Given the description of an element on the screen output the (x, y) to click on. 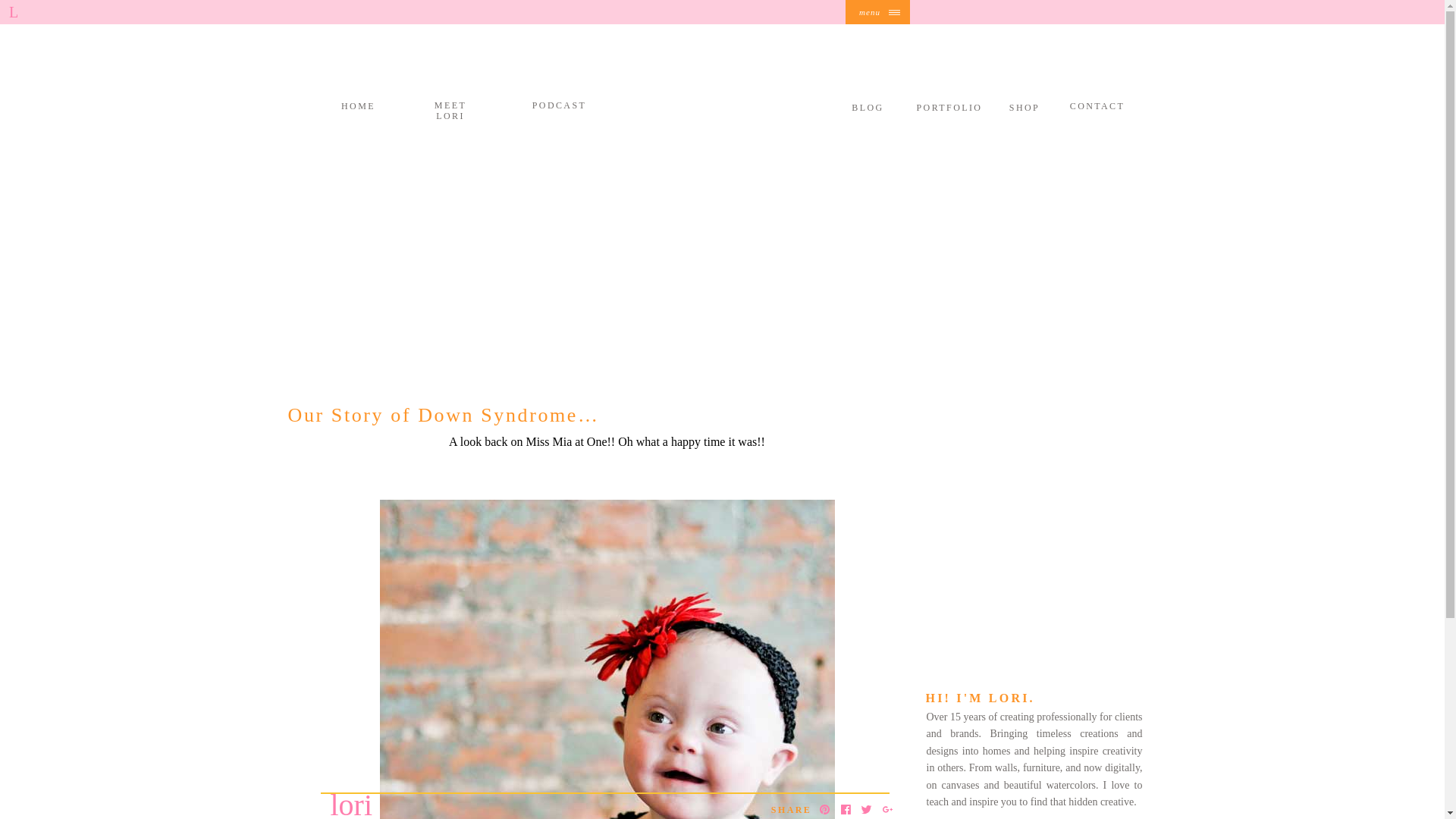
BLOG (866, 108)
HOME (358, 106)
MEET LORI (451, 105)
PORTFOLIO (949, 108)
CONTACT (1095, 106)
Facebook Copy-color Created with Sketch. (845, 808)
L (14, 11)
Facebook Copy-color Created with Sketch. (845, 808)
PODCAST (558, 105)
SHOP (1023, 108)
